Given the description of an element on the screen output the (x, y) to click on. 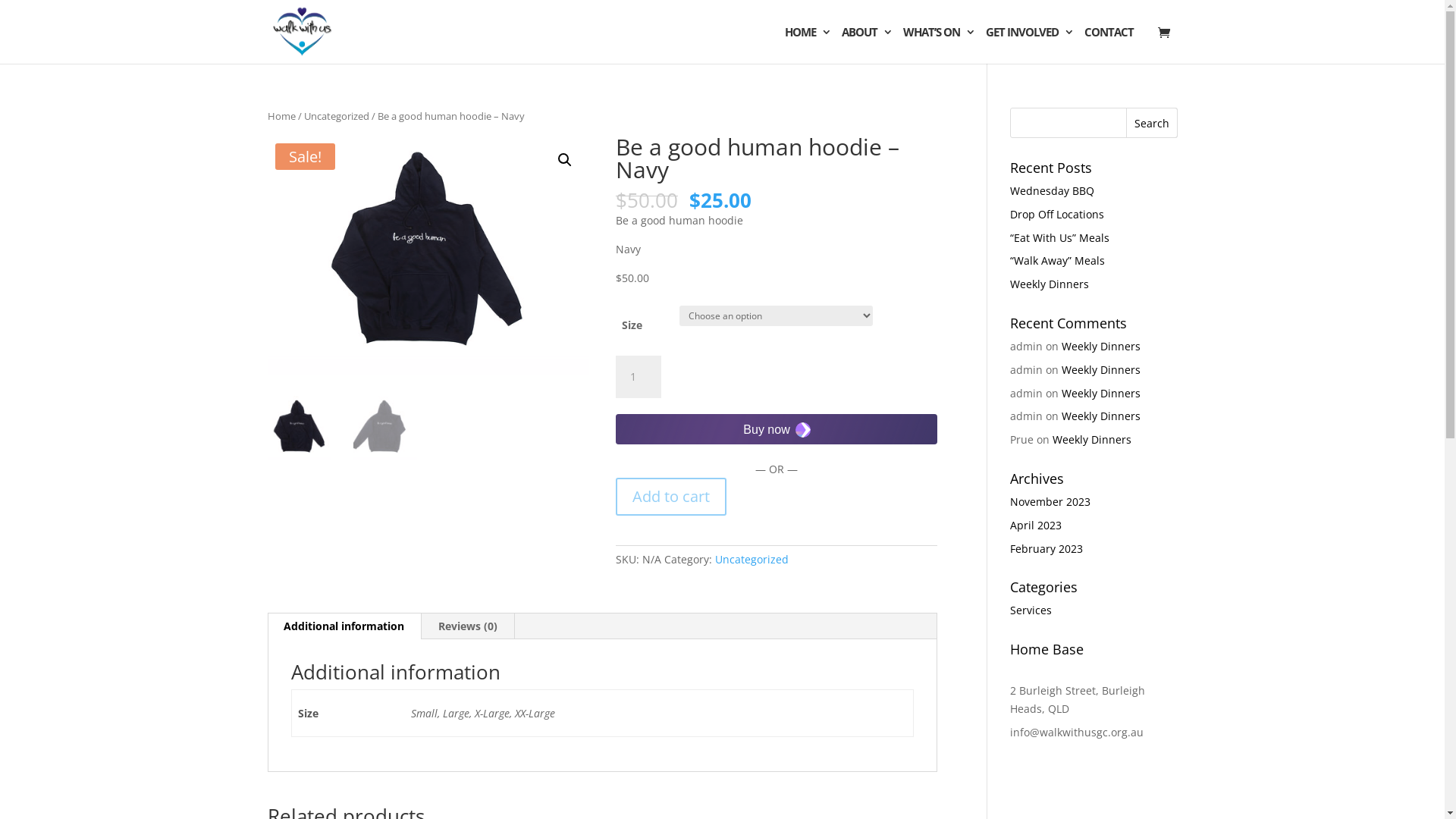
Weekly Dinners Element type: text (1100, 415)
Services Element type: text (1030, 609)
Weekly Dinners Element type: text (1049, 283)
Weekly Dinners Element type: text (1091, 439)
Weekly Dinners Element type: text (1100, 345)
Additional information Element type: text (343, 626)
Uncategorized Element type: text (751, 559)
Weekly Dinners Element type: text (1100, 392)
Add to cart Element type: text (670, 496)
navy Element type: hover (427, 255)
Home Element type: text (280, 115)
April 2023 Element type: text (1035, 524)
Reviews (0) Element type: text (467, 626)
ABOUT Element type: text (866, 44)
Drop Off Locations Element type: text (1057, 214)
February 2023 Element type: text (1046, 548)
Uncategorized Element type: text (335, 115)
Search Element type: text (1151, 122)
CONTACT Element type: text (1108, 44)
HOME Element type: text (807, 44)
GET INVOLVED Element type: text (1029, 44)
November 2023 Element type: text (1050, 501)
Wednesday BBQ Element type: text (1052, 190)
navy 2 Element type: hover (749, 247)
Weekly Dinners Element type: text (1100, 369)
Secure payment button frame Element type: hover (776, 429)
